Given the description of an element on the screen output the (x, y) to click on. 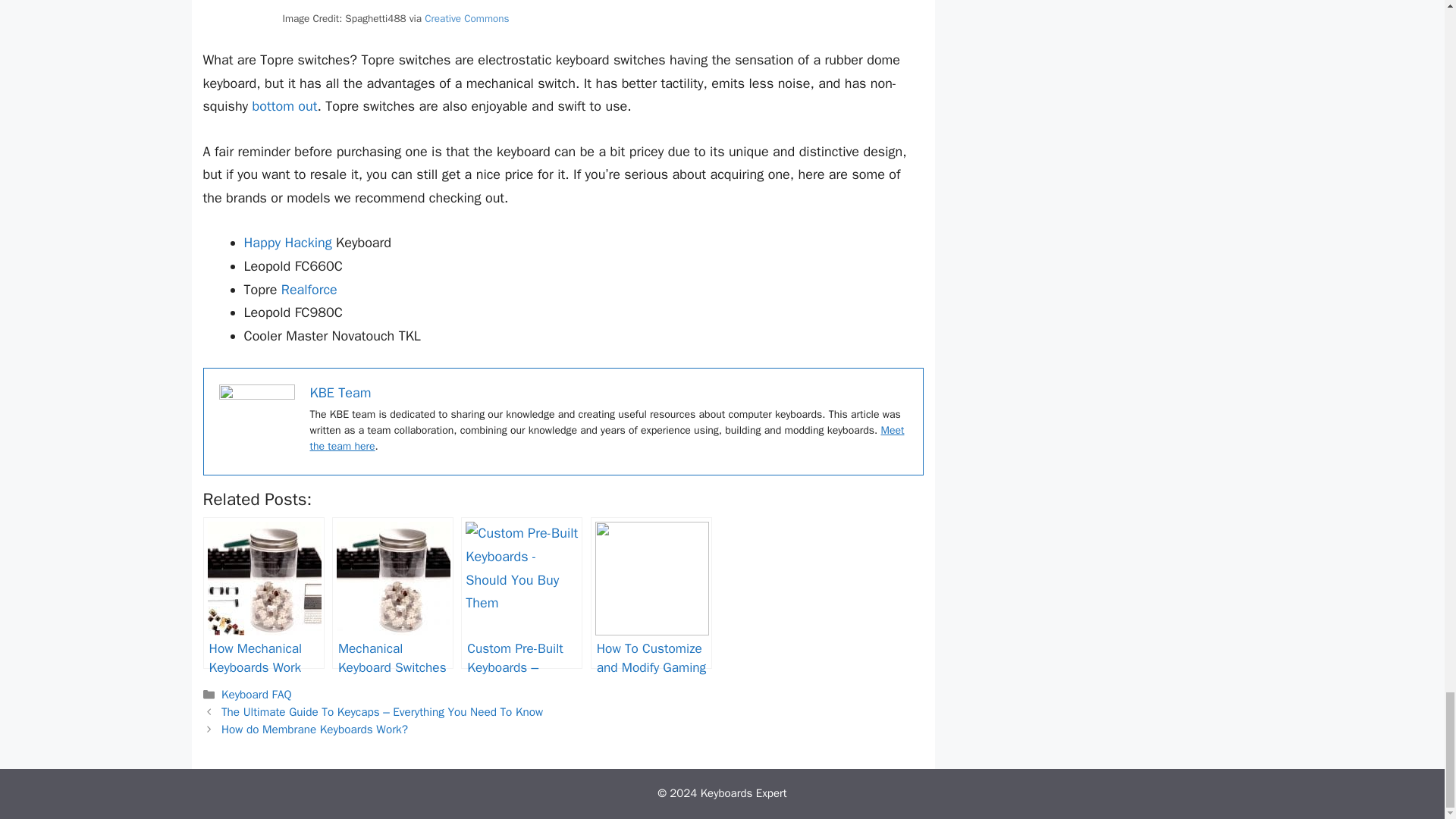
Keyboard FAQ (256, 694)
bottom out (284, 105)
Realforce (309, 289)
Creative Commons (466, 18)
How do Membrane Keyboards Work? (314, 729)
Meet the team here (606, 438)
Happy Hacking (287, 242)
KBE Team (339, 392)
